Given the description of an element on the screen output the (x, y) to click on. 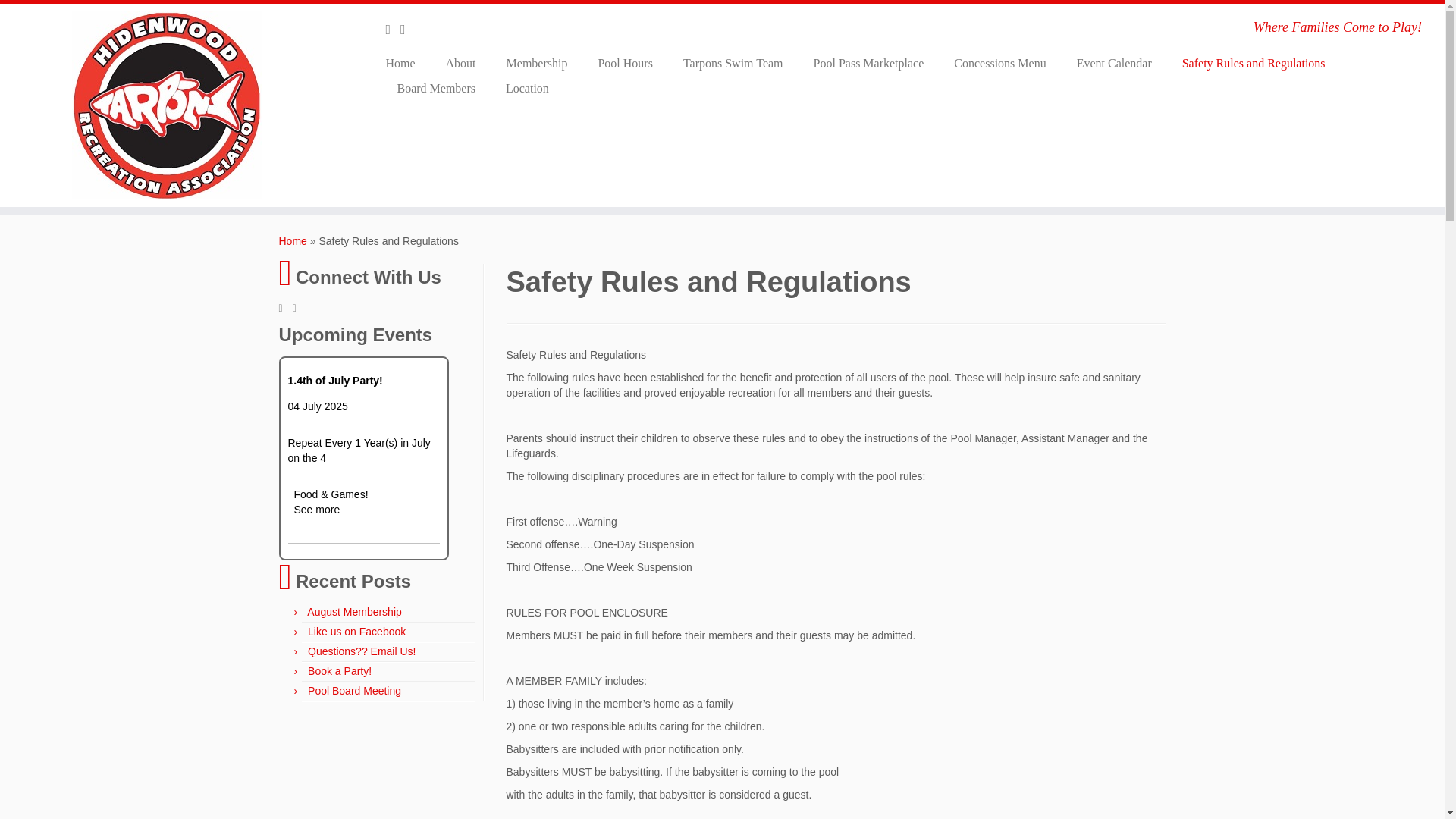
Safety Rules and Regulations (1253, 63)
Pool Board Meeting (354, 690)
Questions?? Email Us! (360, 651)
Board Members (435, 88)
Home (405, 63)
Like us on Facebook (356, 631)
1.4th of July Party! (335, 388)
Home (293, 241)
Follow me on Facebook (392, 29)
Pool Pass Marketplace (868, 63)
